Given the description of an element on the screen output the (x, y) to click on. 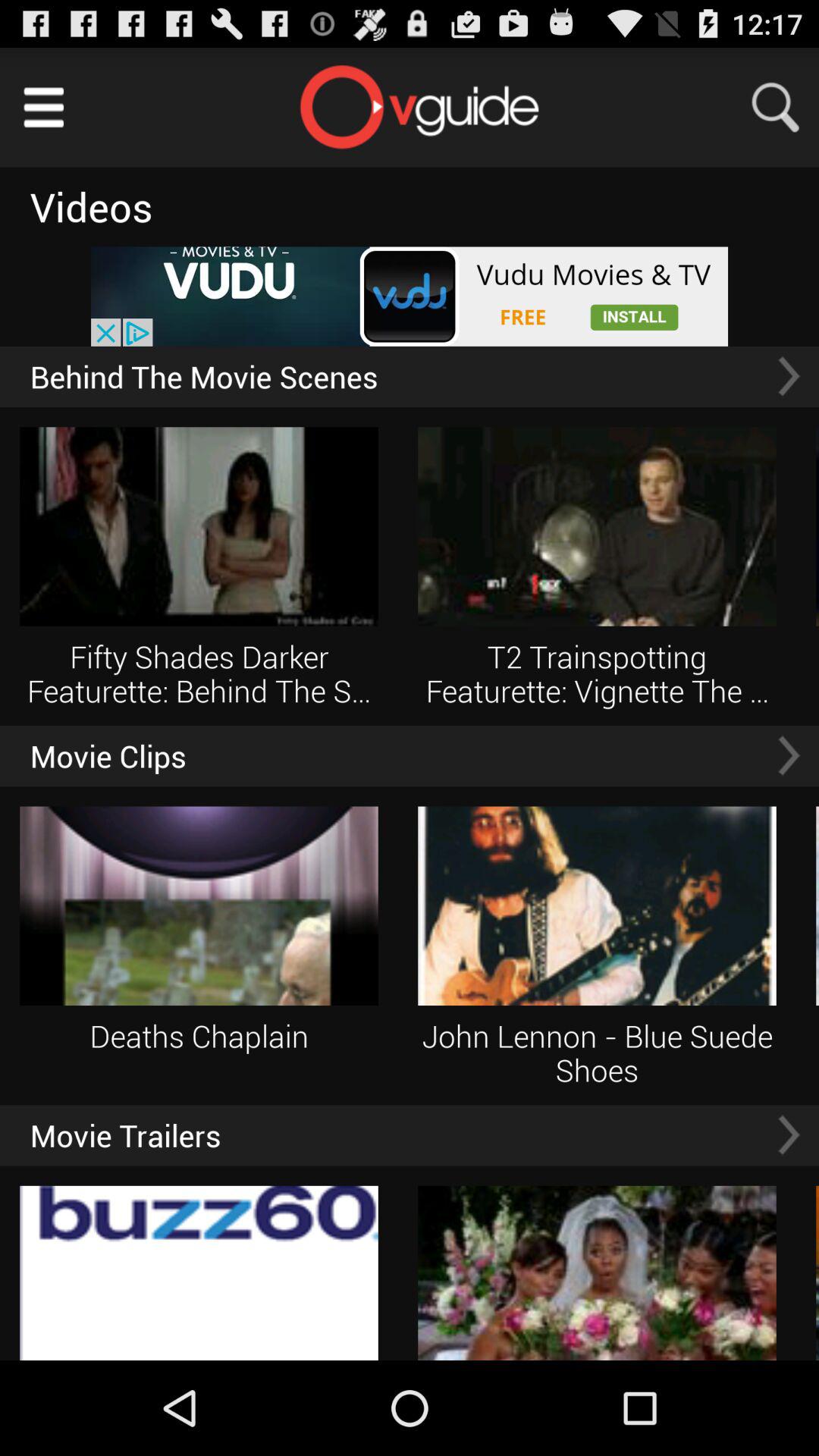
main menu (43, 107)
